Given the description of an element on the screen output the (x, y) to click on. 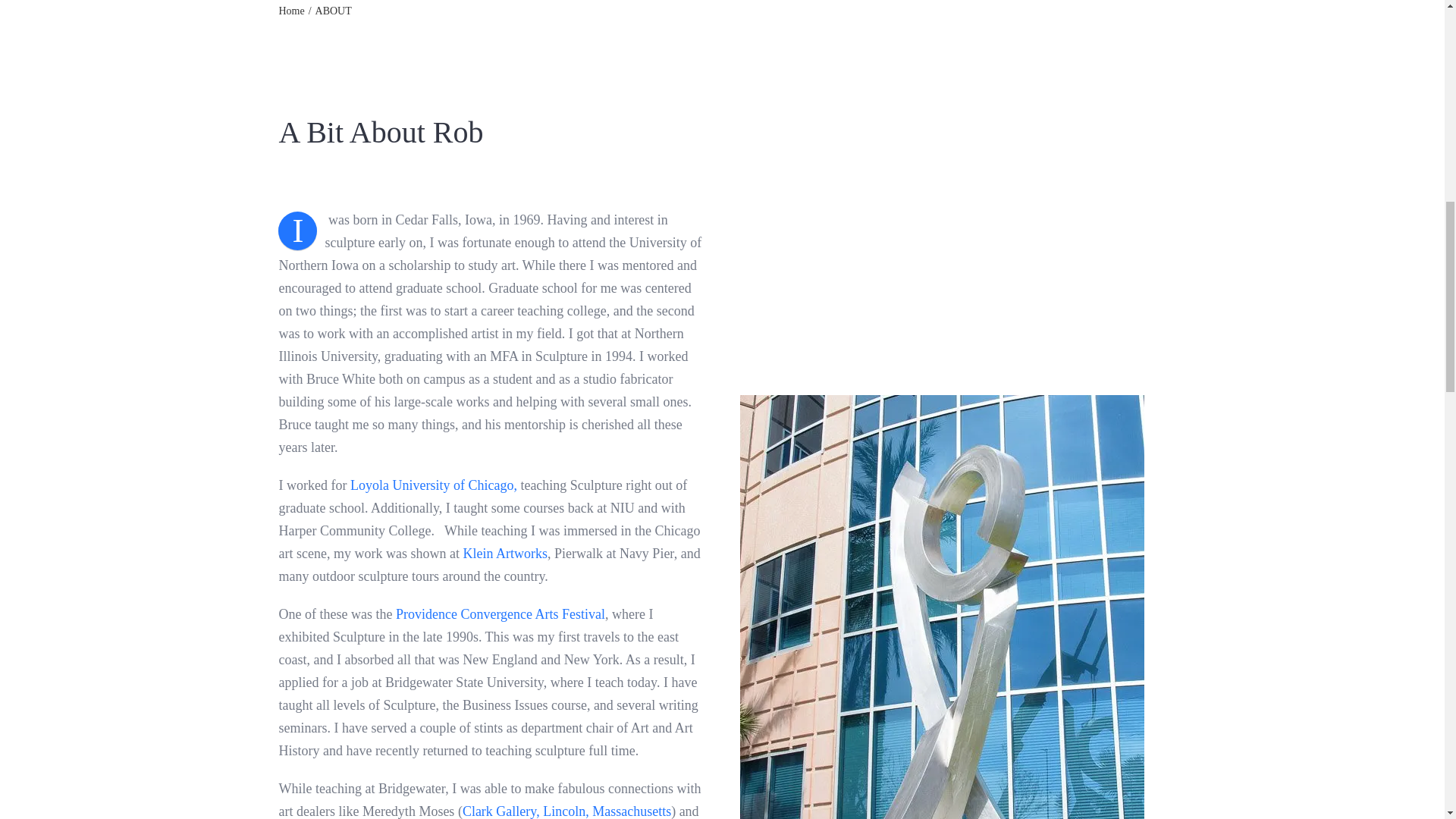
YouTube video player 1 (952, 236)
